Given the description of an element on the screen output the (x, y) to click on. 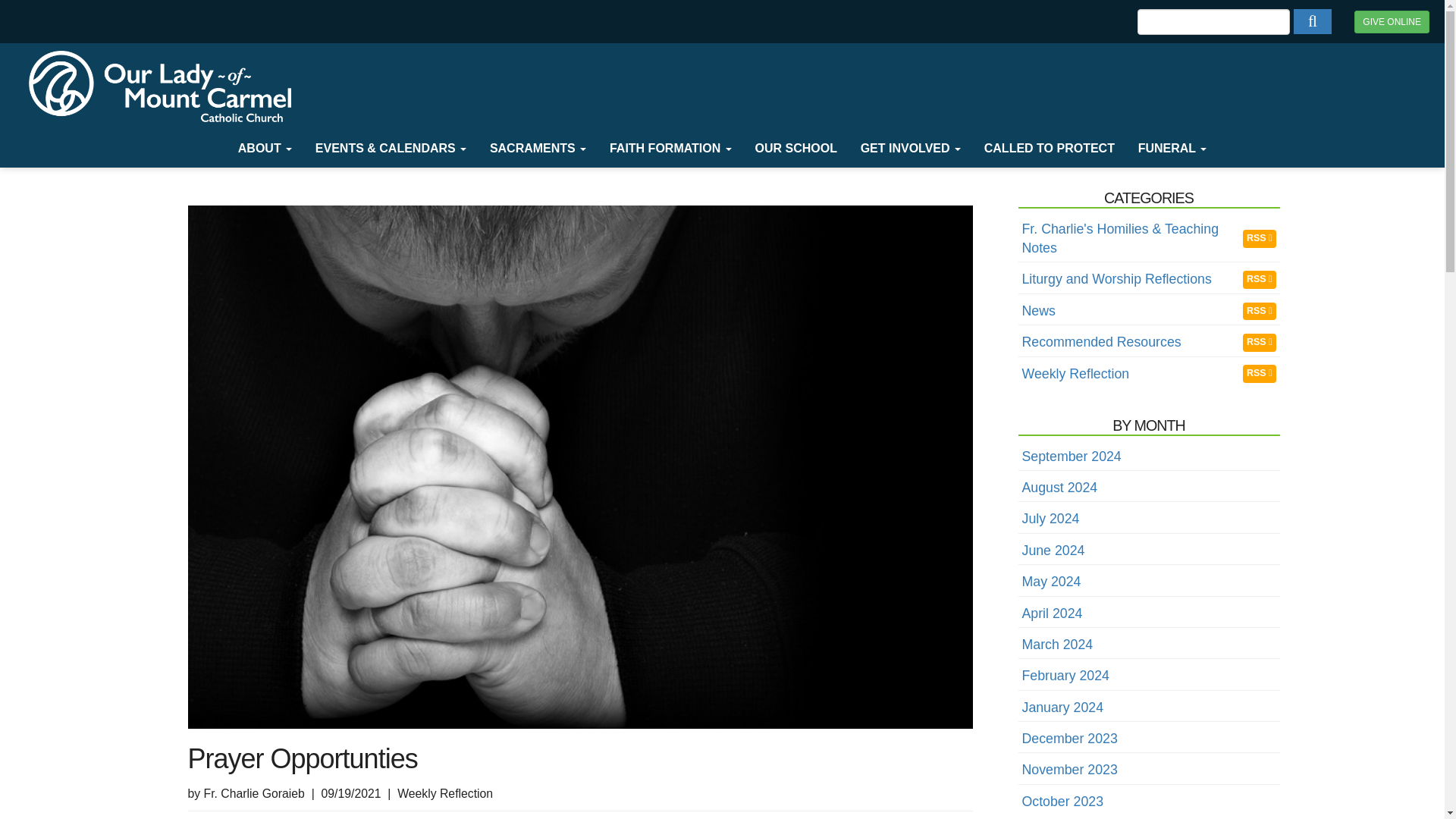
FAITH FORMATION (671, 148)
ABOUT (263, 148)
GIVE ONLINE (1391, 21)
SACRAMENTS (538, 148)
